Given the description of an element on the screen output the (x, y) to click on. 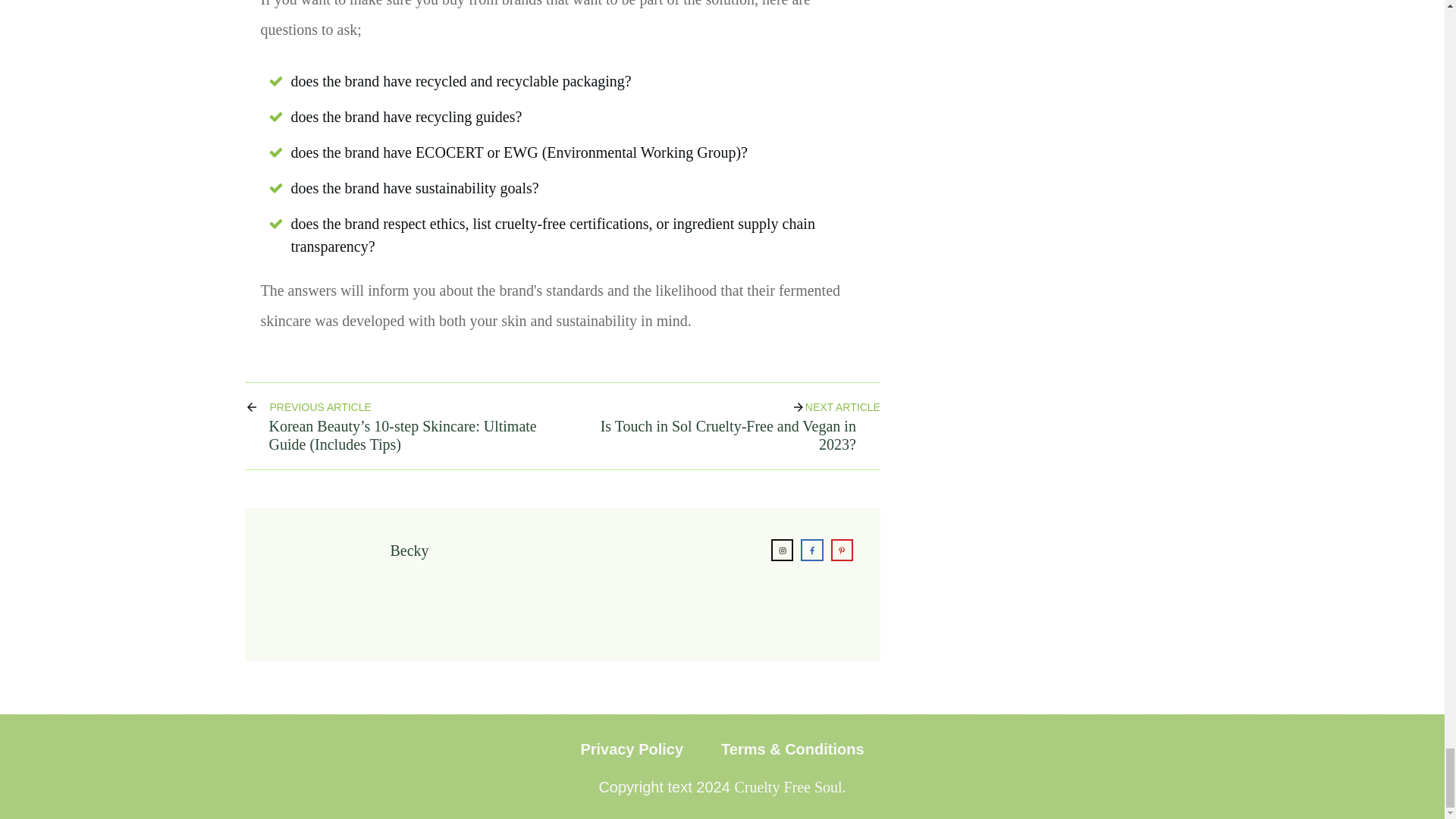
undefined (319, 584)
Becky (409, 550)
